Given the description of an element on the screen output the (x, y) to click on. 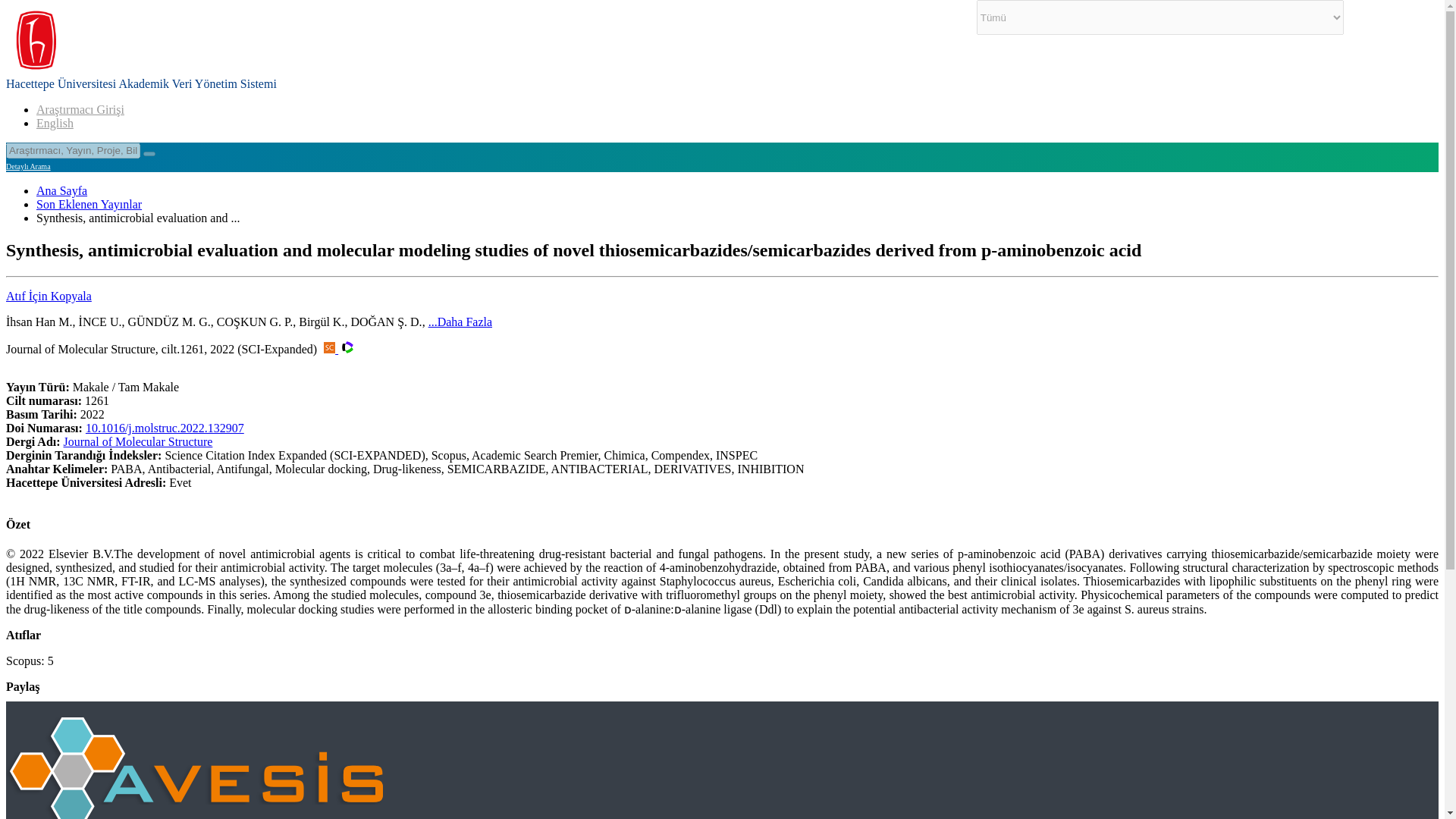
English (55, 123)
Ana Sayfa (61, 190)
Journal of Molecular Structure (138, 440)
...Daha Fazla (460, 321)
